Given the description of an element on the screen output the (x, y) to click on. 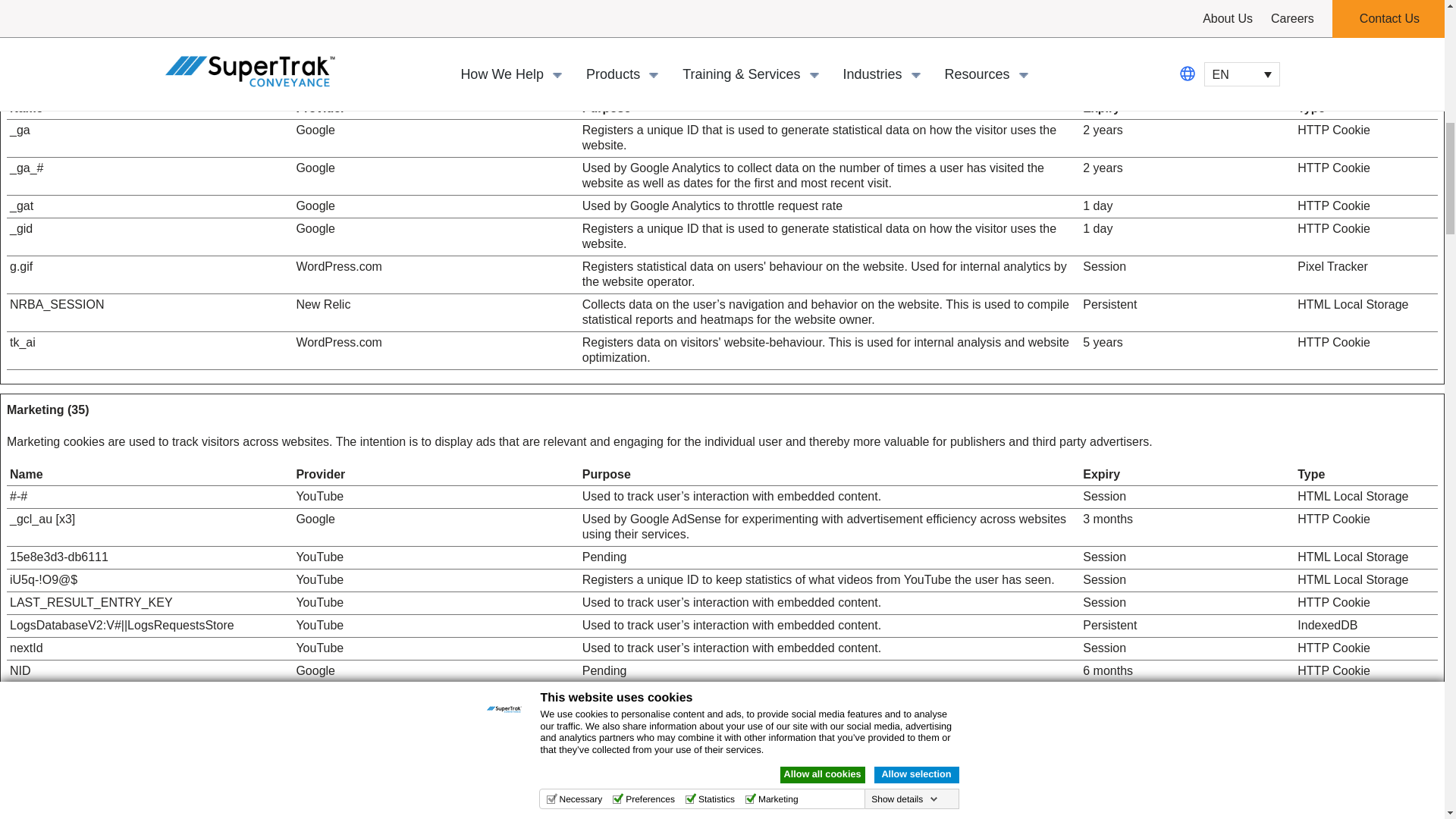
WordPress.com's privacy policy (338, 341)
YouTube (319, 813)
YouTube (319, 579)
New Relic (322, 304)
YouTube (319, 647)
YouTube's privacy policy (319, 556)
Google (314, 129)
Google's privacy policy (314, 518)
YouTube (319, 495)
YouTube (319, 625)
WordPress.com (338, 266)
Google (314, 518)
Google (314, 228)
YouTube's privacy policy (319, 495)
Google (314, 205)
